Given the description of an element on the screen output the (x, y) to click on. 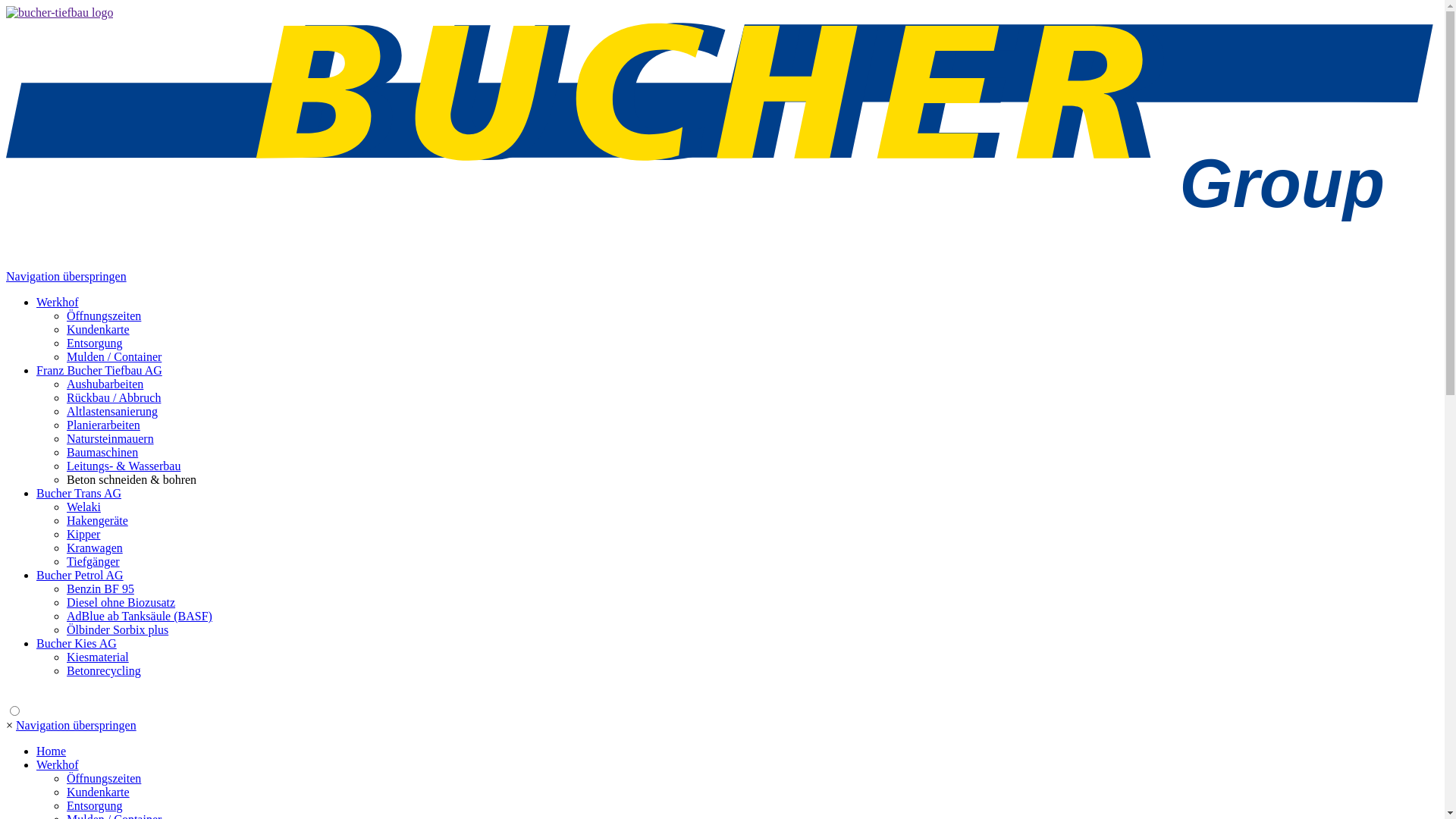
Leitungs- & Wasserbau Element type: text (123, 465)
Kundenkarte Element type: text (97, 791)
Entsorgung Element type: text (94, 805)
Mulden / Container Element type: text (113, 356)
home Element type: hover (722, 262)
Franz Bucher Tiefbau AG Element type: text (99, 370)
home Element type: hover (59, 12)
Kiesmaterial Element type: text (97, 656)
Bucher Kies AG Element type: text (76, 643)
Diesel ohne Biozusatz Element type: text (120, 602)
Benzin BF 95 Element type: text (100, 588)
Natursteinmauern Element type: text (109, 438)
Home Element type: text (50, 750)
Betonrecycling Element type: text (103, 670)
Planierarbeiten Element type: text (103, 424)
Bucher Petrol AG Element type: text (79, 574)
Werkhof Element type: text (57, 301)
Altlastensanierung Element type: text (111, 410)
Welaki Element type: text (83, 506)
Bucher Trans AG Element type: text (78, 492)
Aushubarbeiten Element type: text (104, 383)
Kipper Element type: text (83, 533)
Baumaschinen Element type: text (102, 451)
  Element type: text (7, 696)
Kranwagen Element type: text (94, 547)
Entsorgung Element type: text (94, 342)
Kundenkarte Element type: text (97, 329)
Werkhof Element type: text (57, 764)
